Given the description of an element on the screen output the (x, y) to click on. 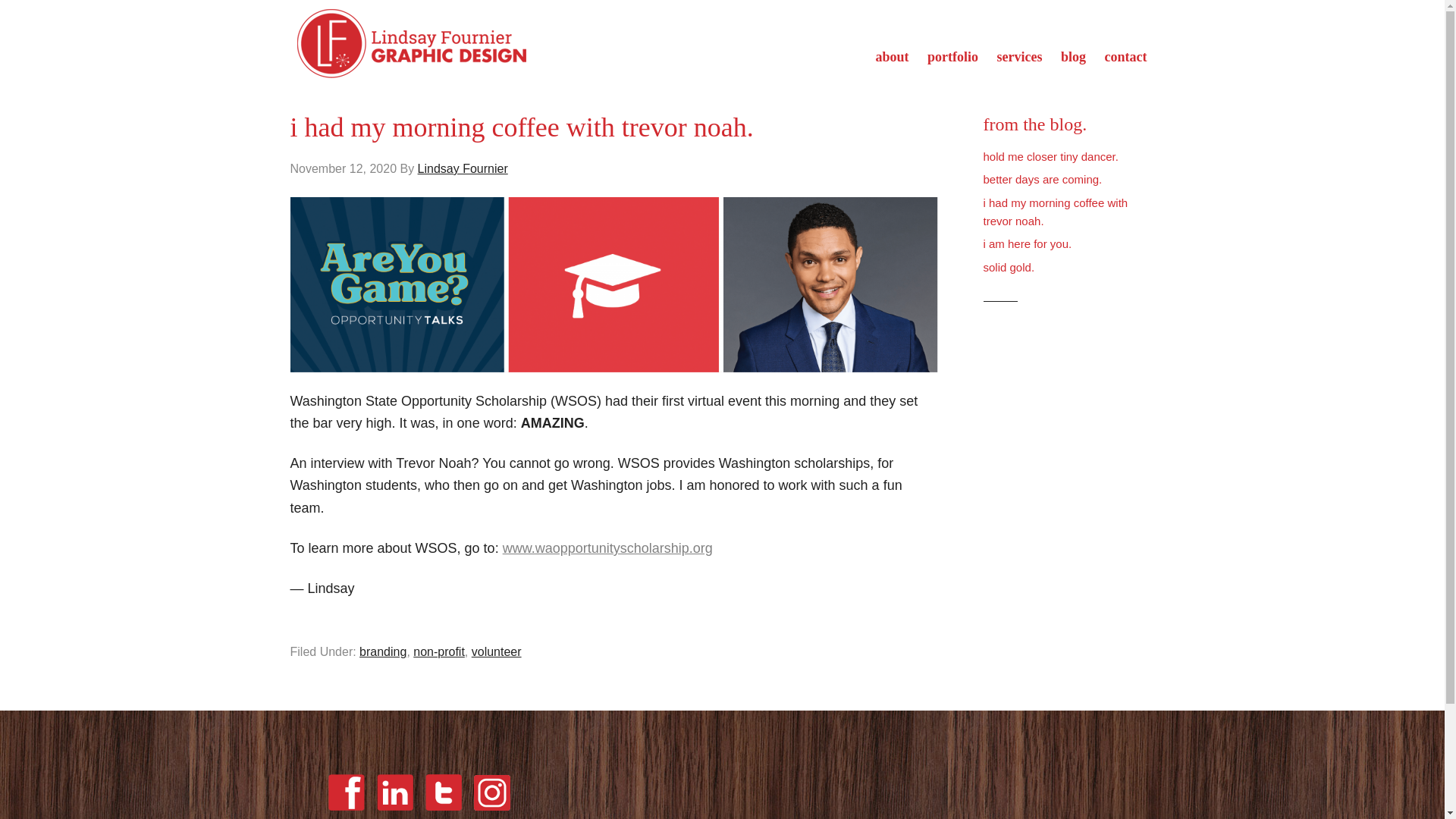
lindsay fournier - seattle graphic designer (410, 43)
twitter (443, 811)
volunteer (496, 651)
hold me closer tiny dancer. (1050, 155)
instagram (491, 811)
www.waopportunityscholarship.org (607, 548)
Lindsay Fournier (462, 168)
facebook (345, 791)
better days are coming. (1042, 178)
solid gold. (1007, 267)
